Given the description of an element on the screen output the (x, y) to click on. 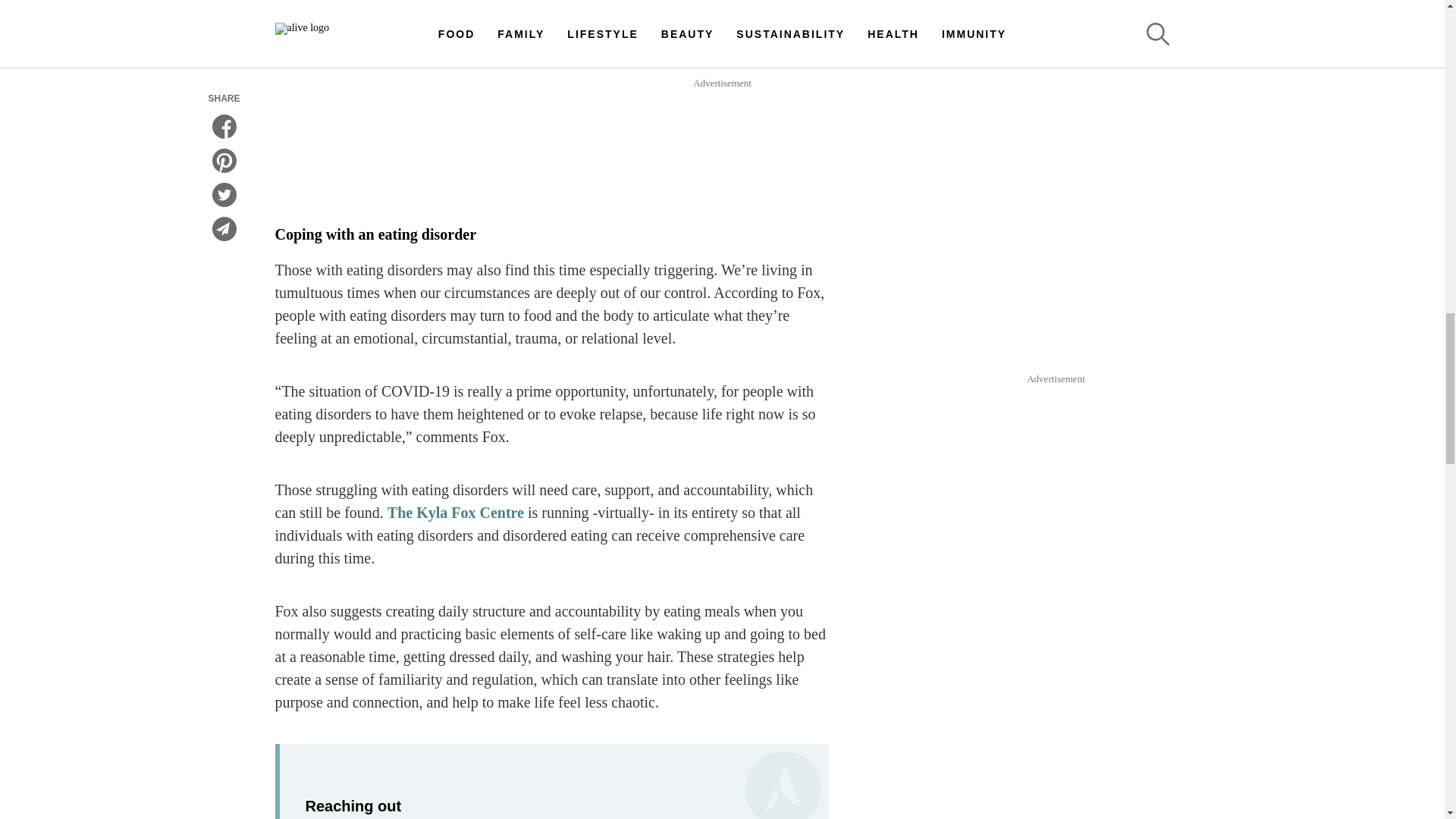
The Kyla Fox Centre (455, 512)
